Given the description of an element on the screen output the (x, y) to click on. 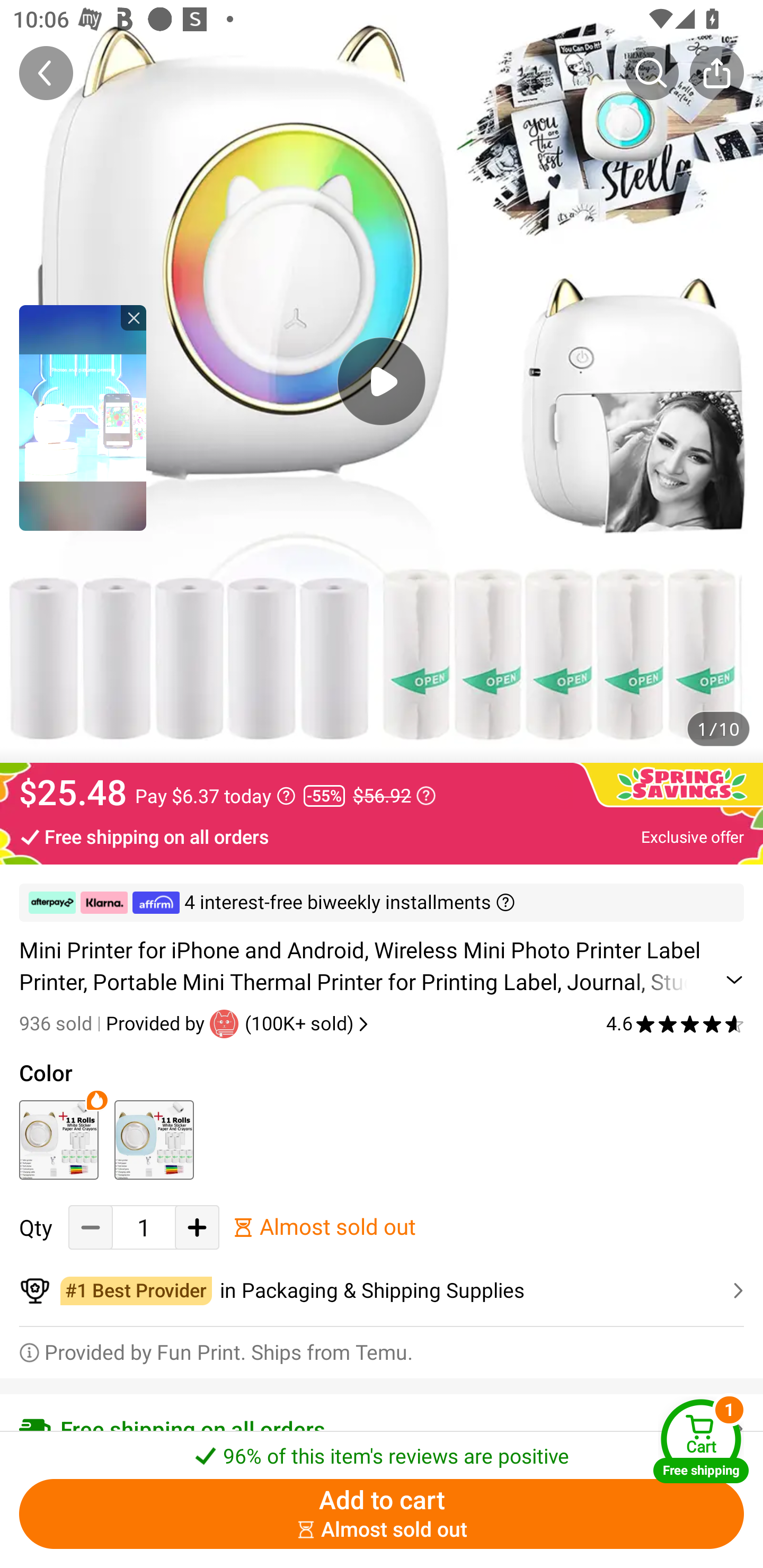
Back (46, 72)
Share (716, 72)
tronplayer_view (82, 417)
Pay $6.37 today   (215, 795)
Free shipping on all orders Exclusive offer (381, 836)
￼ ￼ ￼ 4 interest-free biweekly installments ￼ (381, 902)
936 sold Provided by  (114, 1023)
4.6 (674, 1023)
Mini Printer-White   (58, 1139)
Mini Printer-Blue (153, 1139)
Decrease Quantity Button (90, 1227)
1 (143, 1227)
Add Quantity button (196, 1227)
￼￼in Packaging & Shipping Supplies (381, 1290)
Cart Free shipping Cart (701, 1440)
￼￼96% of this item's reviews are positive (381, 1450)
Add to cart ￼￼Almost sold out (381, 1513)
